Given the description of an element on the screen output the (x, y) to click on. 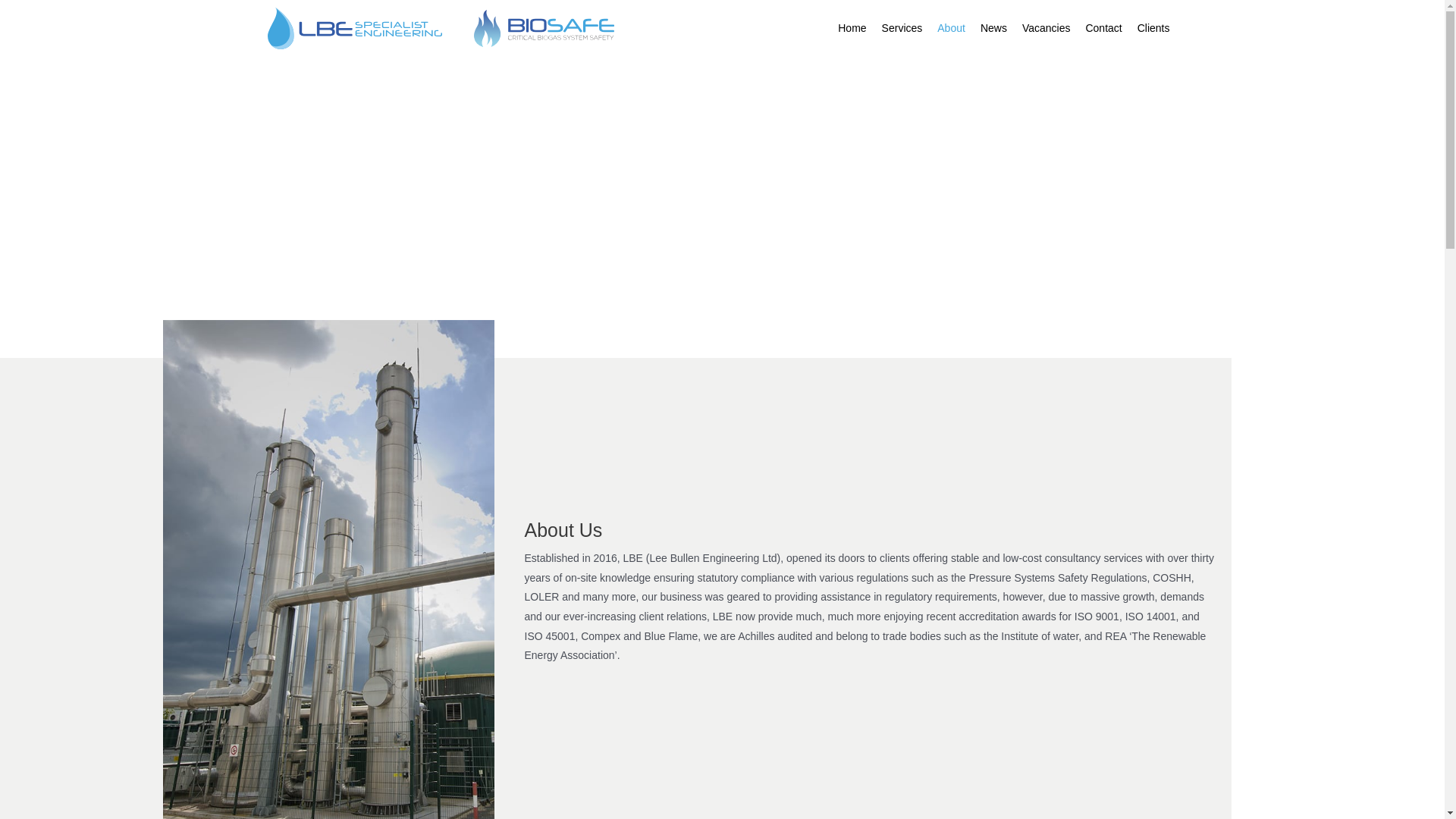
Services (902, 28)
Clients (1153, 28)
Home (851, 28)
Vacancies (1046, 28)
Contact (1103, 28)
News (993, 28)
About (951, 28)
biosafe-logo (544, 27)
lbe-logo-new (353, 28)
